Given the description of an element on the screen output the (x, y) to click on. 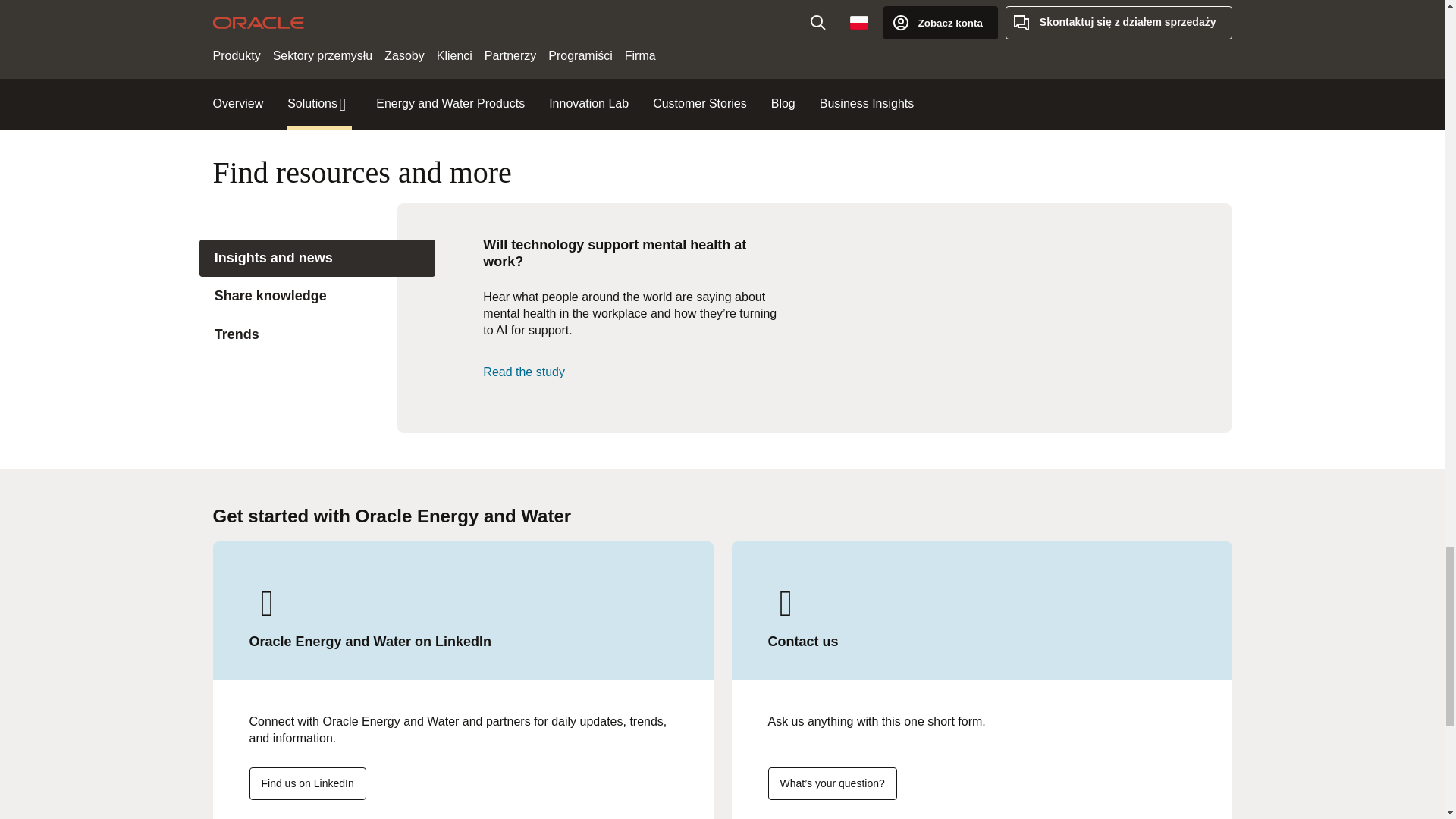
Get more information about Oracle Energy and Water (831, 783)
